Given the description of an element on the screen output the (x, y) to click on. 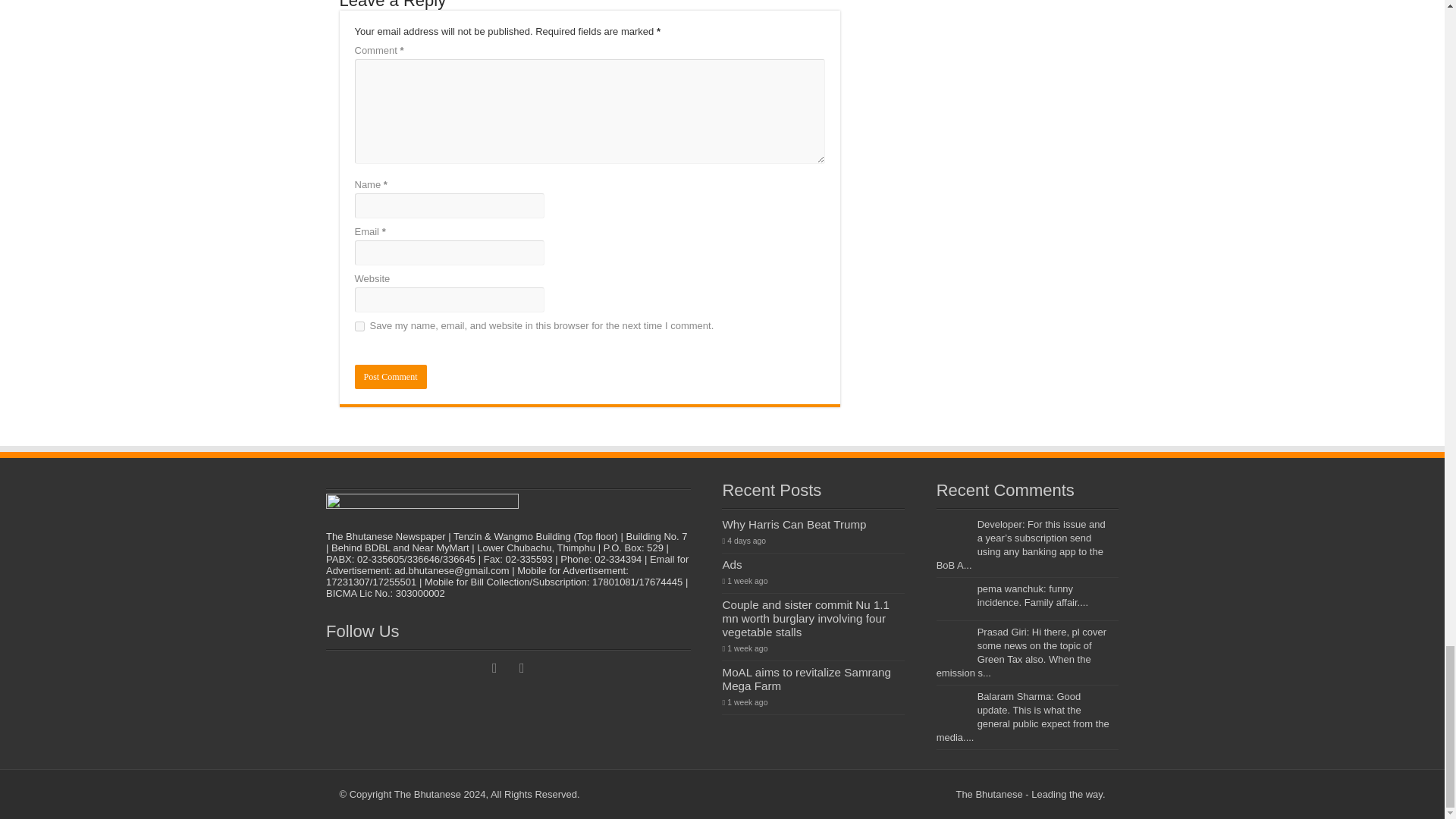
Post Comment (390, 376)
yes (360, 326)
